Given the description of an element on the screen output the (x, y) to click on. 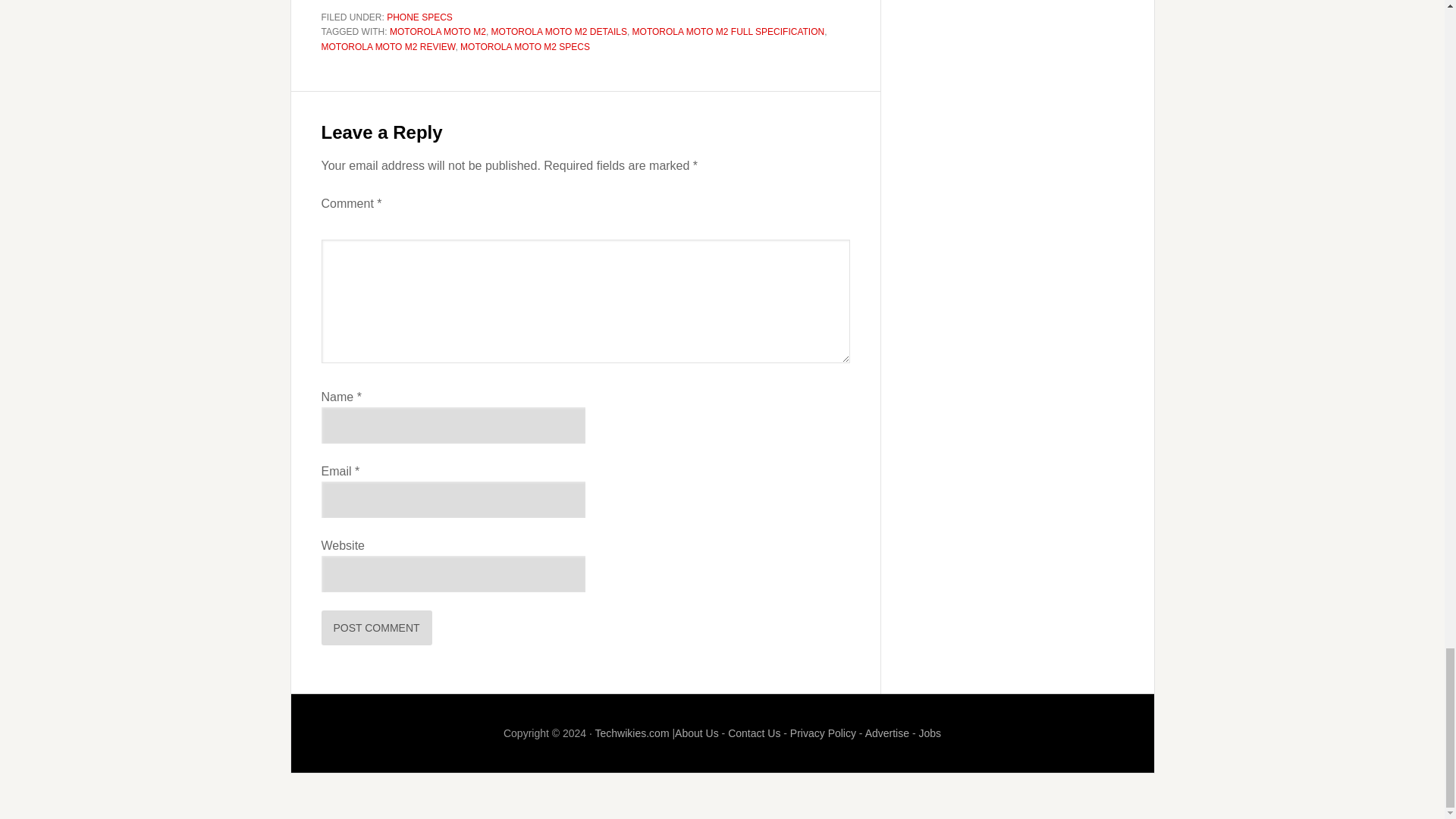
MOTOROLA MOTO M2 REVIEW (388, 46)
MOTOROLA MOTO M2 (438, 31)
MOTOROLA MOTO M2 DETAILS (559, 31)
PHONE SPECS (419, 17)
Post Comment (376, 627)
Post Comment (376, 627)
MOTOROLA MOTO M2 SPECS (524, 46)
MOTOROLA MOTO M2 FULL SPECIFICATION (728, 31)
